Given the description of an element on the screen output the (x, y) to click on. 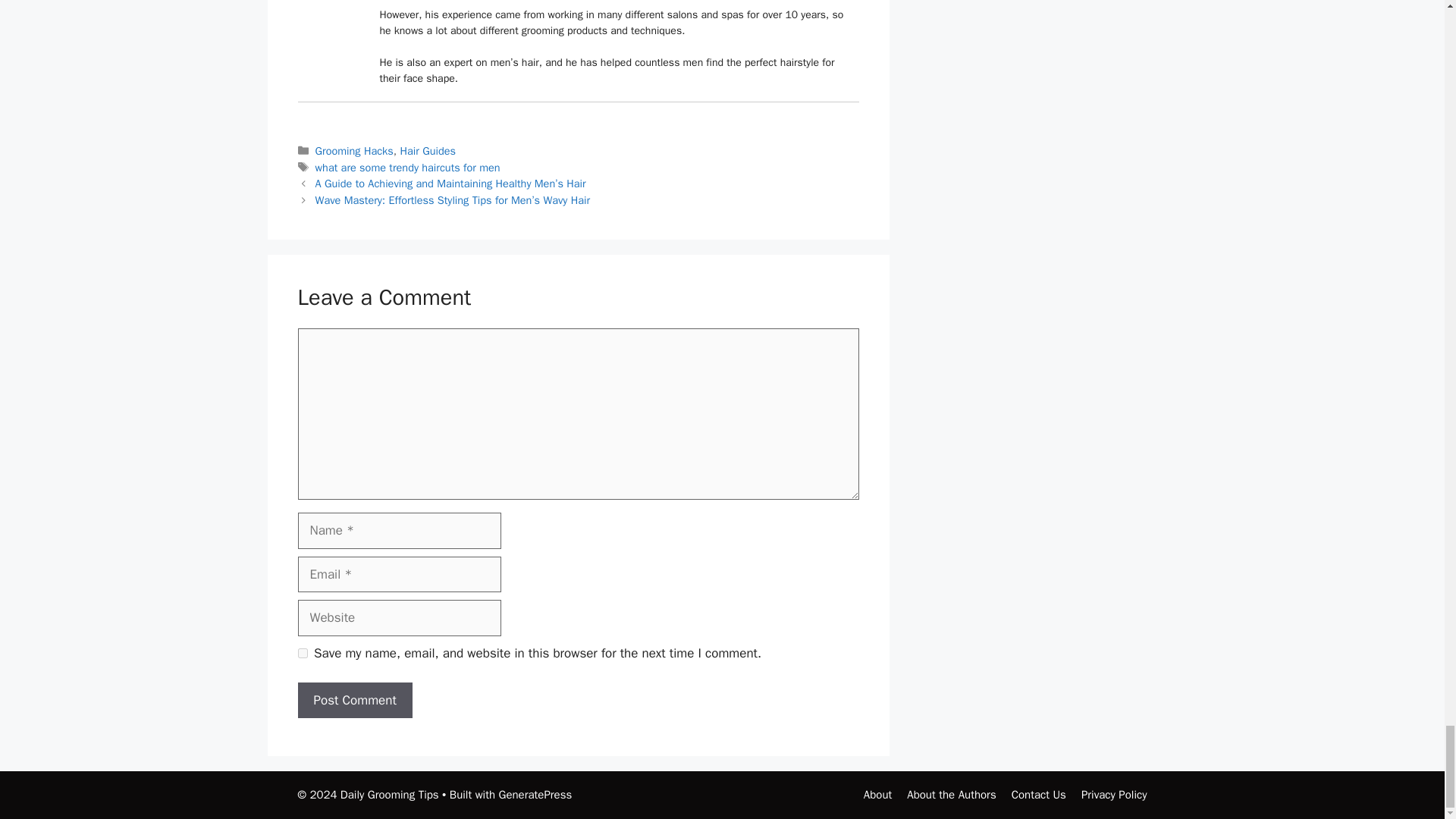
yes (302, 653)
Hair Guides (428, 151)
Post Comment (354, 700)
Grooming Hacks (354, 151)
what are some trendy haircuts for men (407, 167)
